Given the description of an element on the screen output the (x, y) to click on. 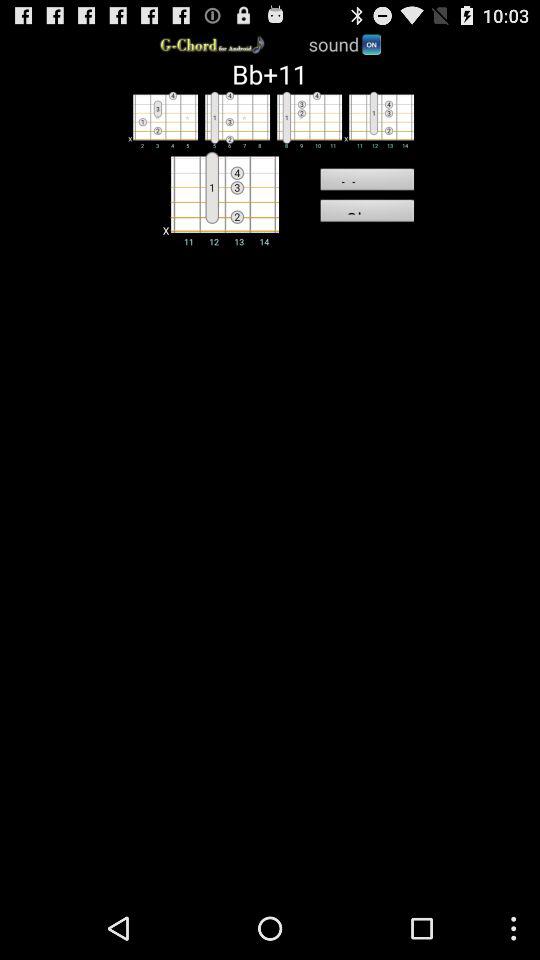
jump to the memo icon (366, 181)
